Given the description of an element on the screen output the (x, y) to click on. 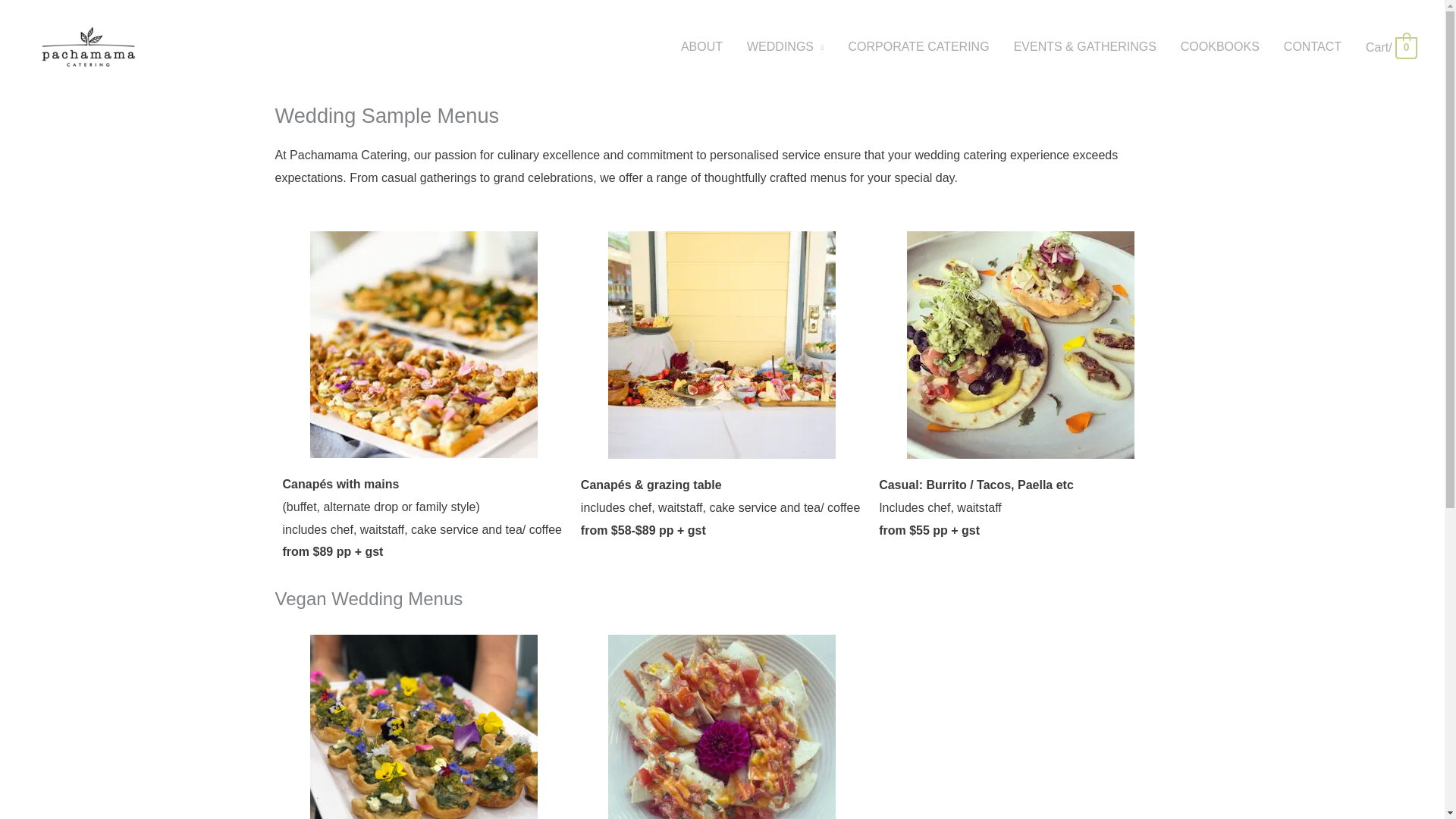
WEDDINGS (785, 47)
CORPORATE CATERING (918, 47)
CONTACT (1312, 47)
ABOUT (701, 47)
COOKBOOKS (1220, 47)
